Given the description of an element on the screen output the (x, y) to click on. 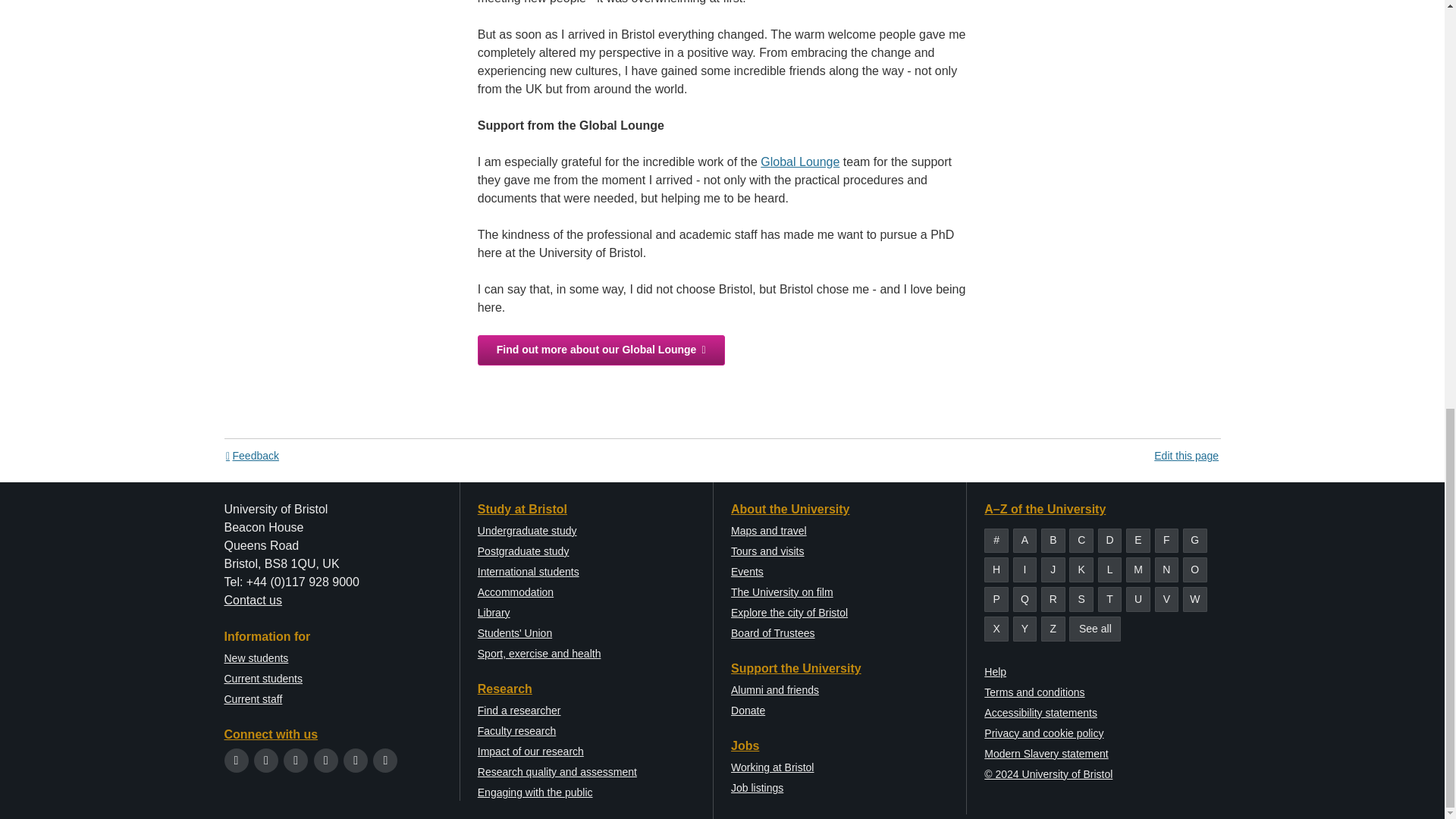
Facebook (265, 760)
Flickr (384, 760)
LinkedIn (355, 760)
YouTube (325, 760)
Global Lounge (800, 161)
Twitter (236, 760)
Instagram (295, 760)
Find out more about our Global Lounge (601, 349)
